Given the description of an element on the screen output the (x, y) to click on. 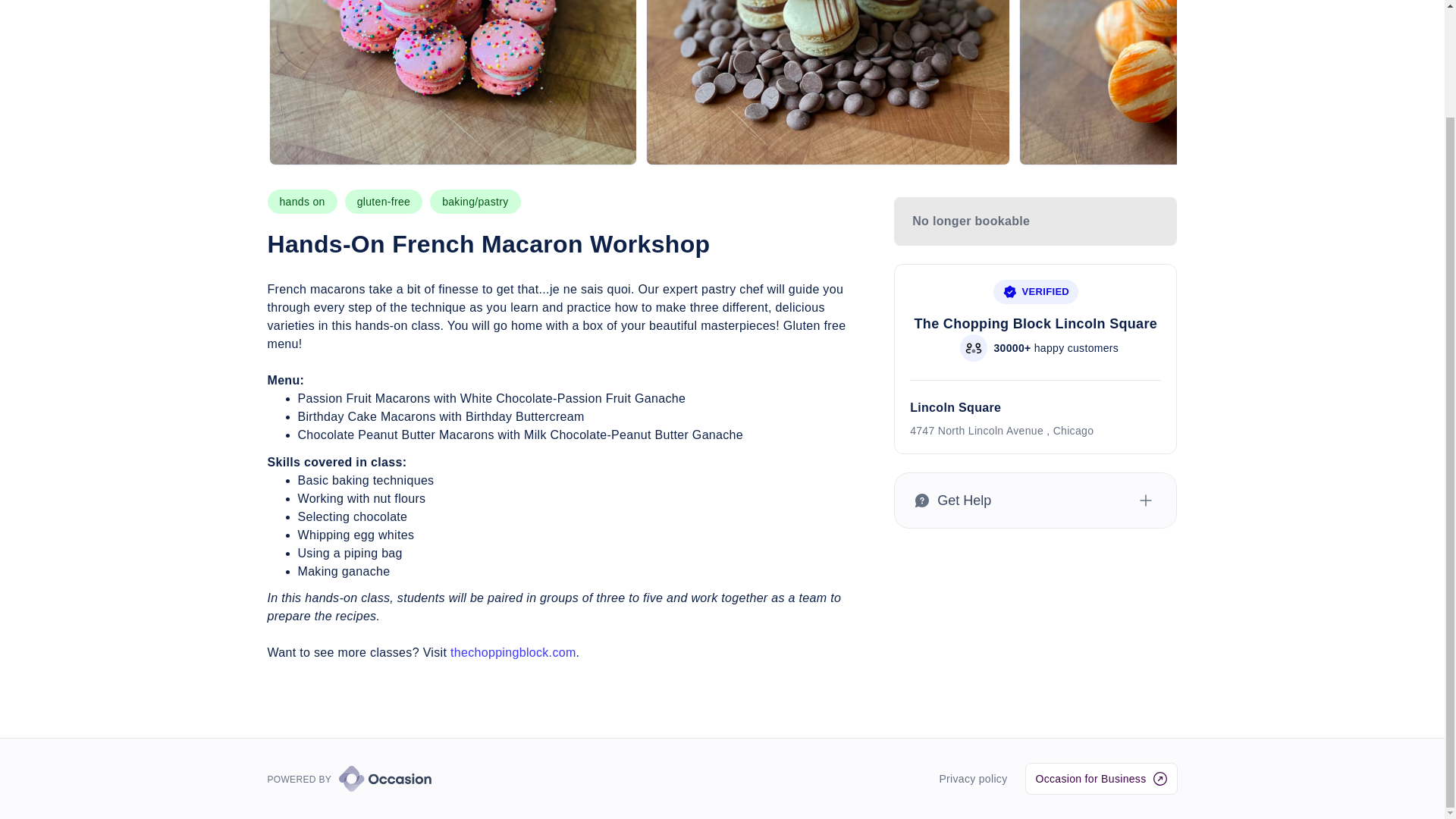
Get Help (1035, 500)
Occasion for Business (1100, 778)
thechoppingblock.com (512, 652)
Privacy policy (973, 778)
